Given the description of an element on the screen output the (x, y) to click on. 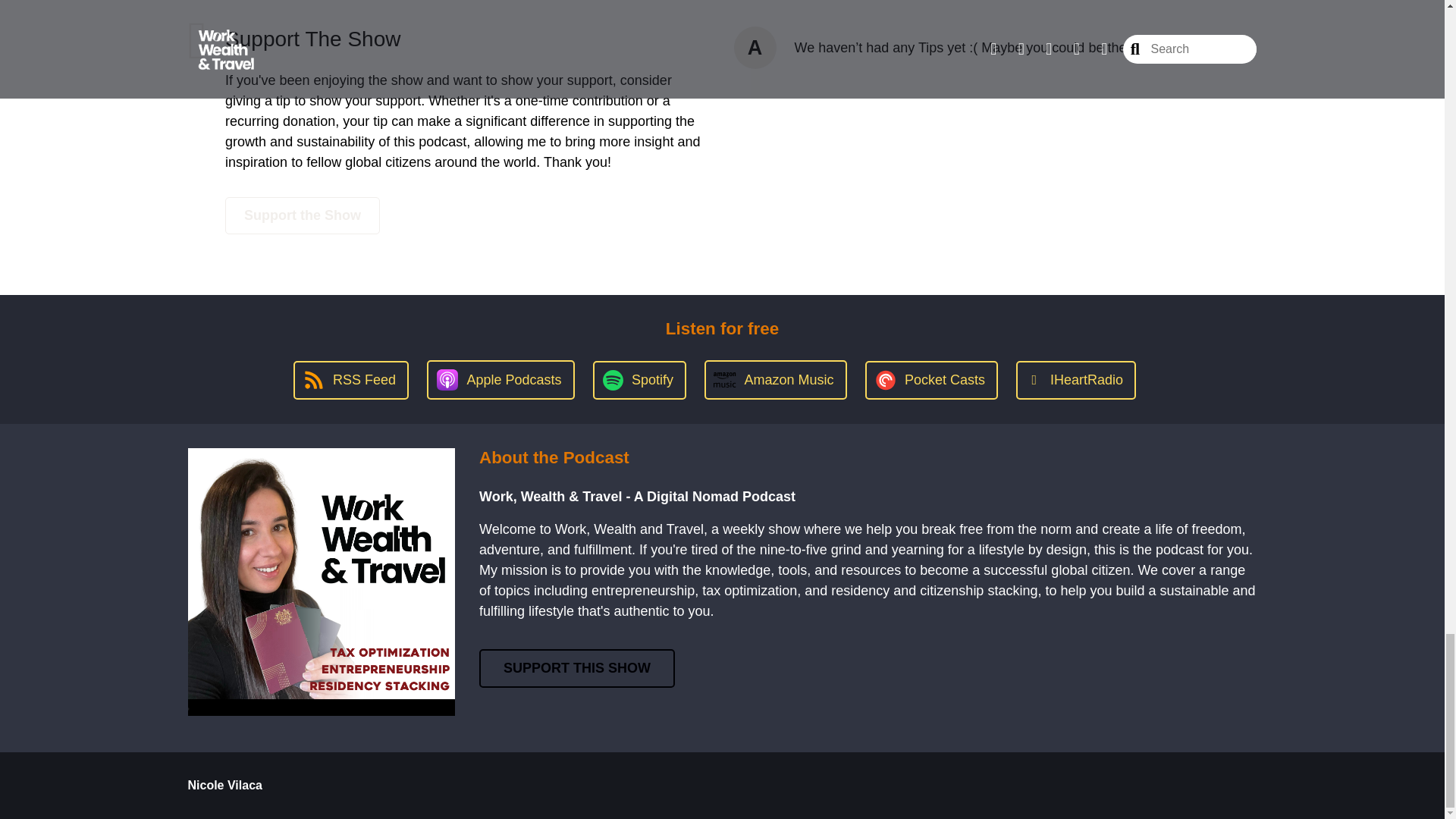
Pocket Casts (930, 380)
IHeartRadio (1075, 380)
Spotify (638, 380)
RSS Feed (351, 380)
Amazon Music (774, 379)
SUPPORT THIS SHOW (577, 668)
Apple Podcasts (499, 379)
Support the Show (302, 215)
